Given the description of an element on the screen output the (x, y) to click on. 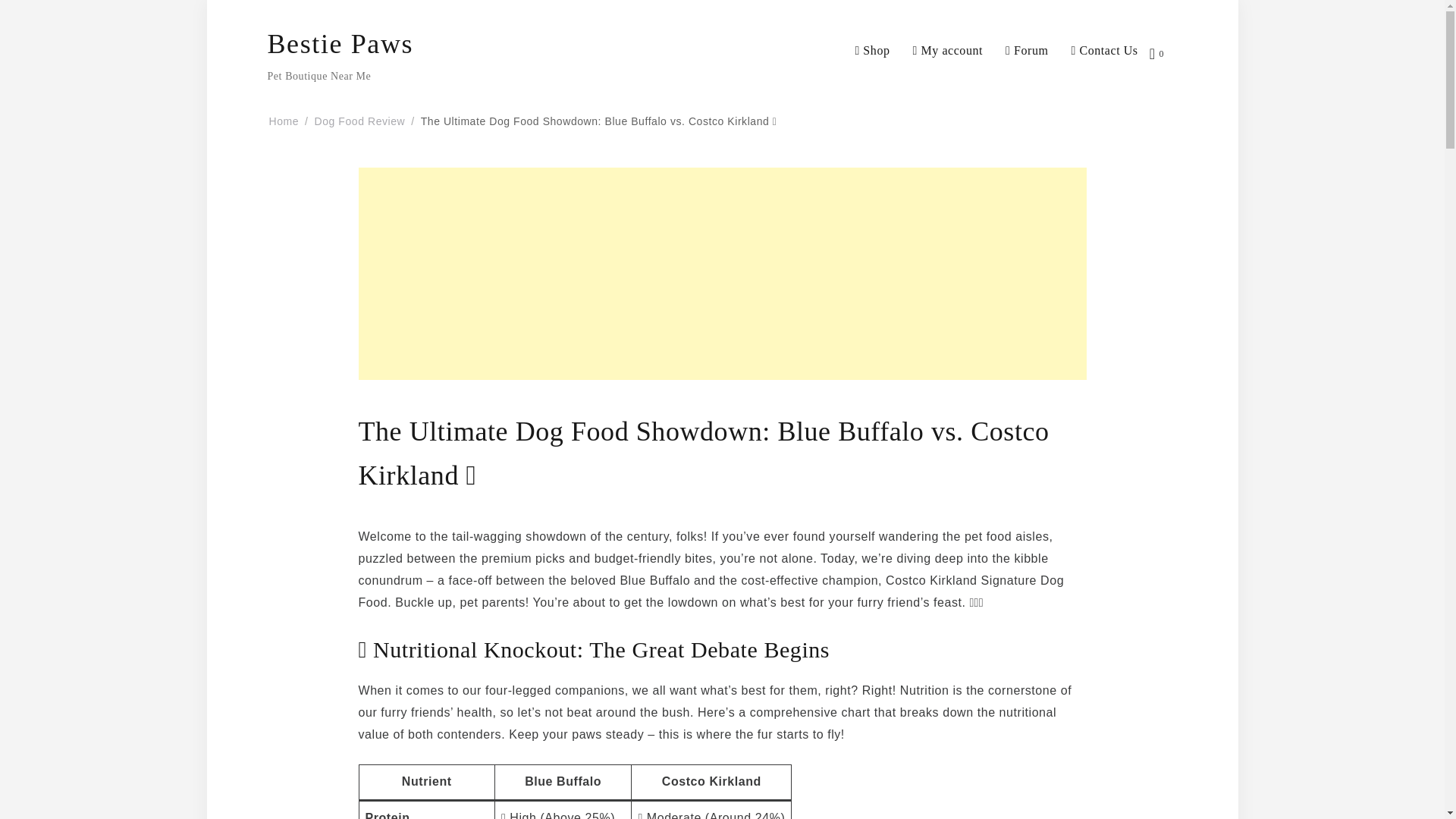
0 (1163, 53)
Dog Food Review (360, 121)
Bestie Paws (339, 44)
Home (282, 121)
